Given the description of an element on the screen output the (x, y) to click on. 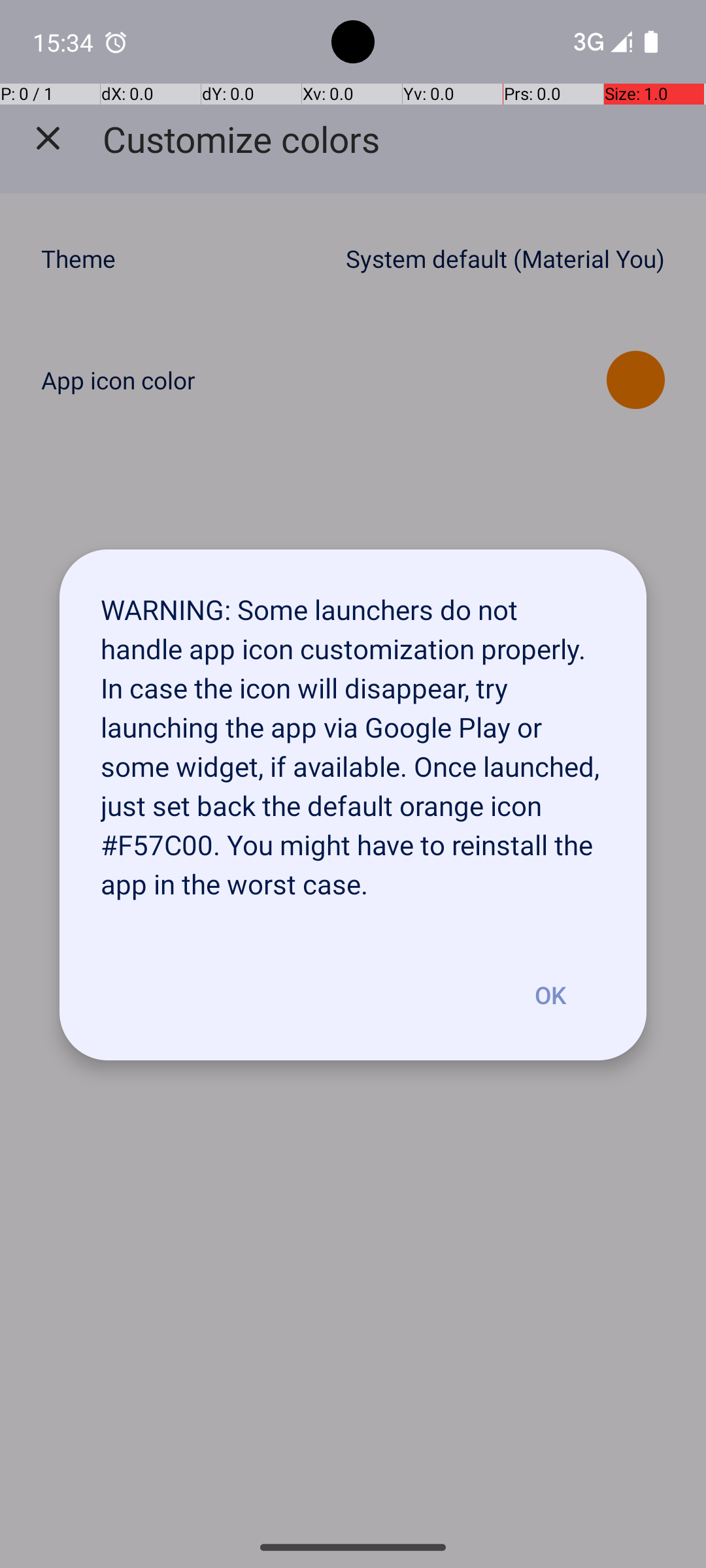
WARNING: Some launchers do not handle app icon customization properly. In case the icon will disappear, try launching the app via Google Play or some widget, if available. Once launched, just set back the default orange icon #F57C00. You might have to reinstall the app in the worst case. Element type: android.widget.TextView (352, 739)
